Given the description of an element on the screen output the (x, y) to click on. 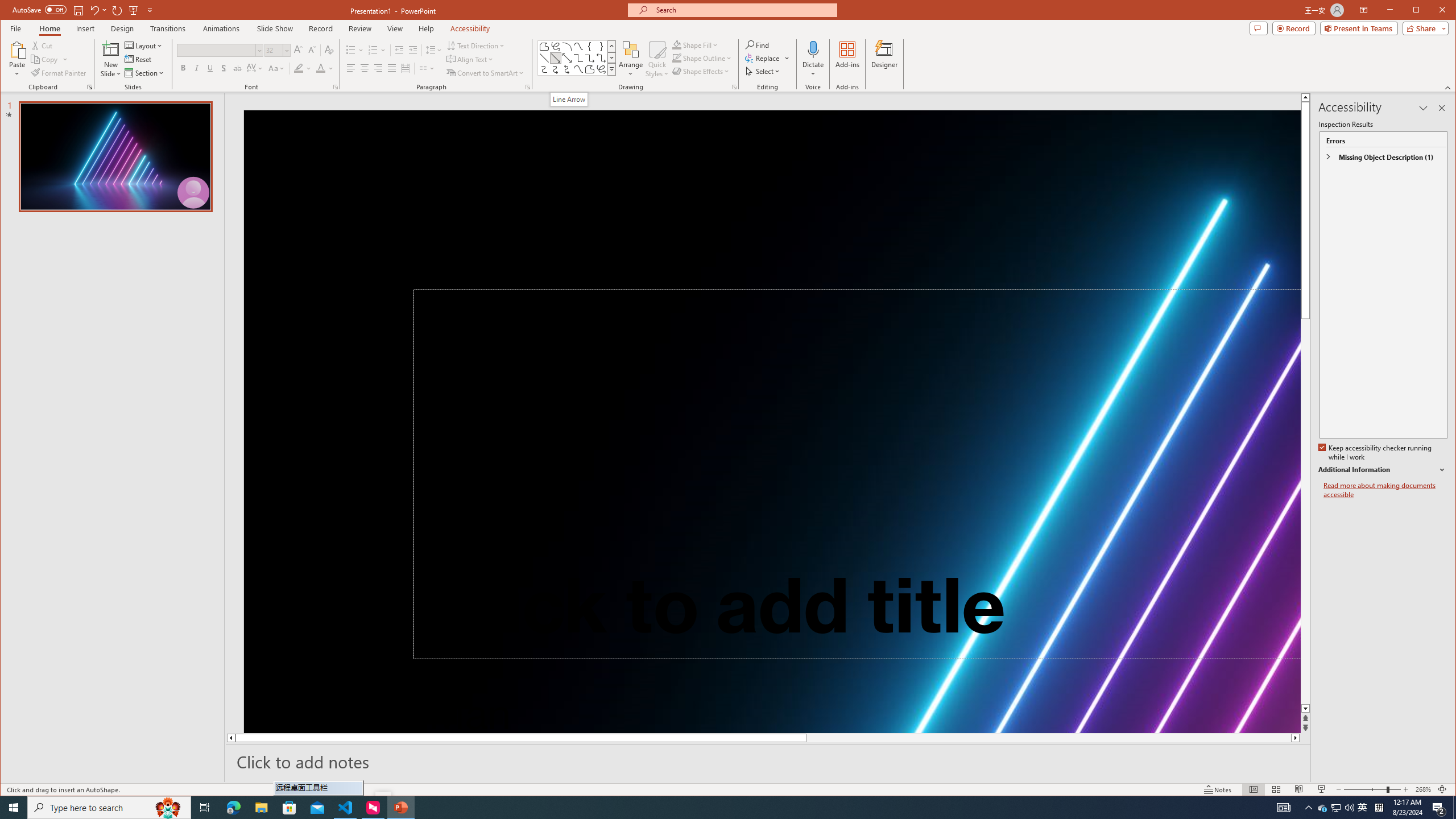
Connector: Curved Arrow (556, 69)
